Given the description of an element on the screen output the (x, y) to click on. 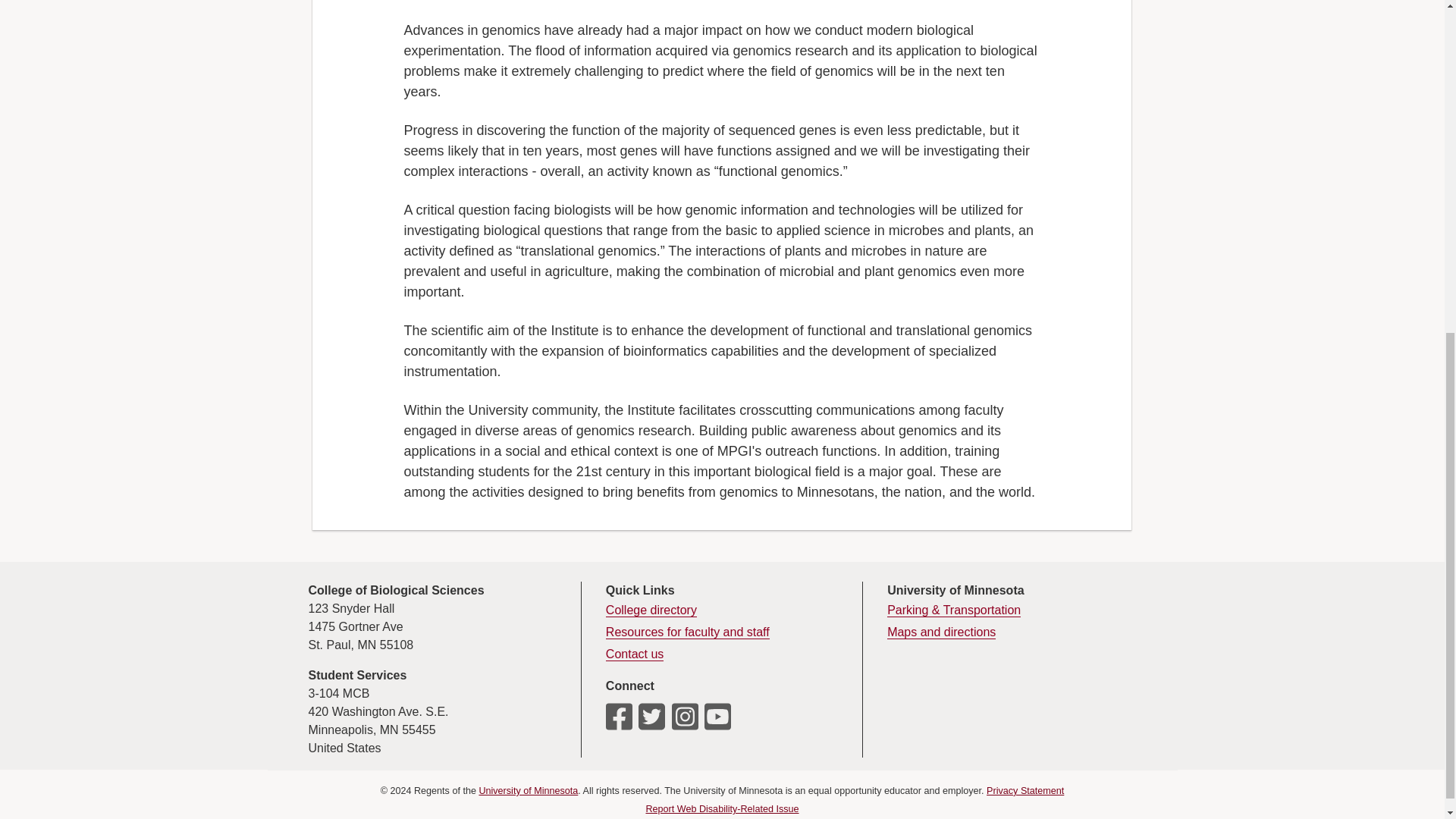
UMN CBS Youtube (717, 722)
UMN CBS Instagram (684, 722)
UMN CBS Twitter (652, 722)
UMN CBS Facebook (618, 722)
